Given the description of an element on the screen output the (x, y) to click on. 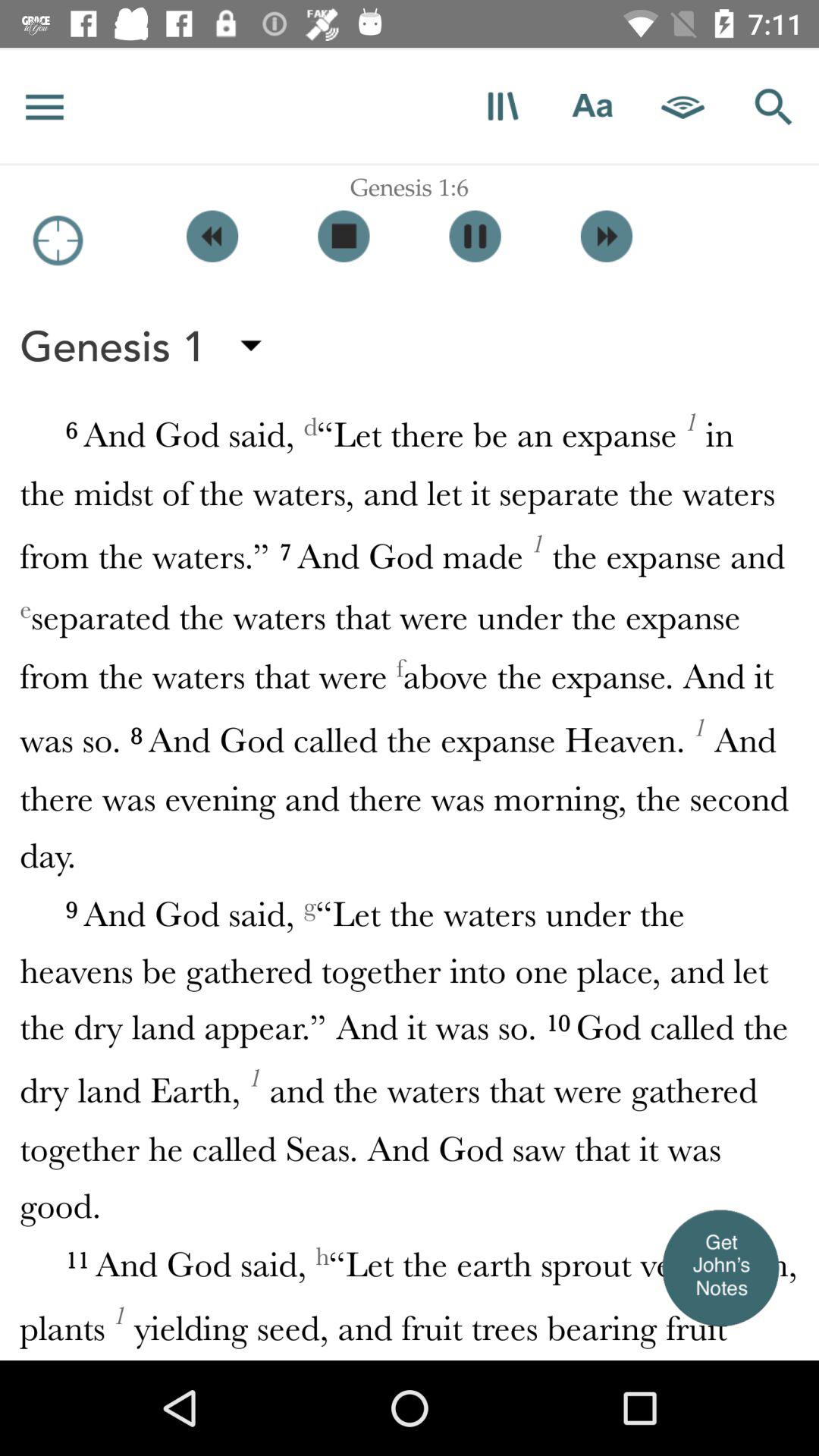
get john 's notes (720, 1267)
